Given the description of an element on the screen output the (x, y) to click on. 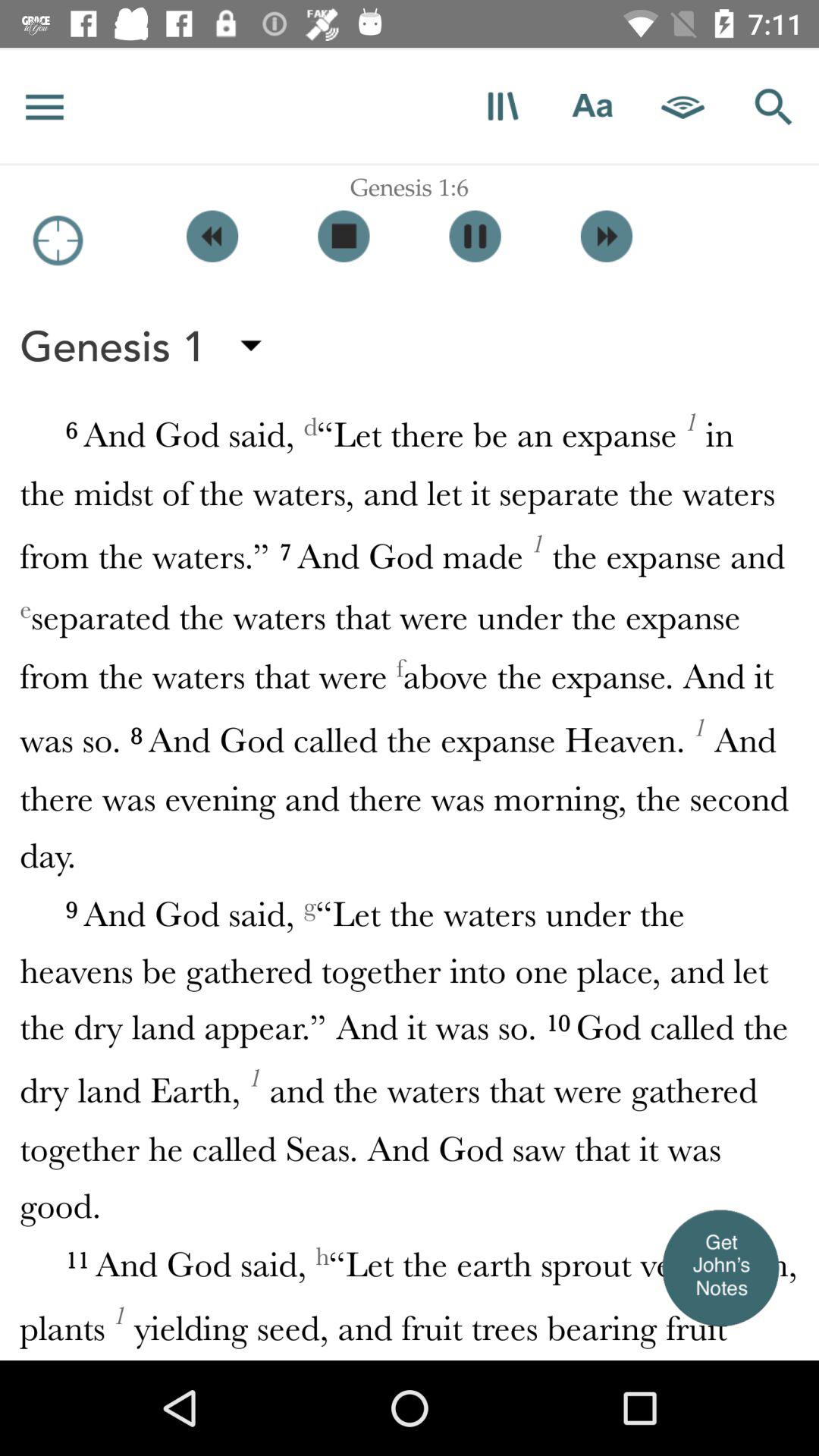
get john 's notes (720, 1267)
